Given the description of an element on the screen output the (x, y) to click on. 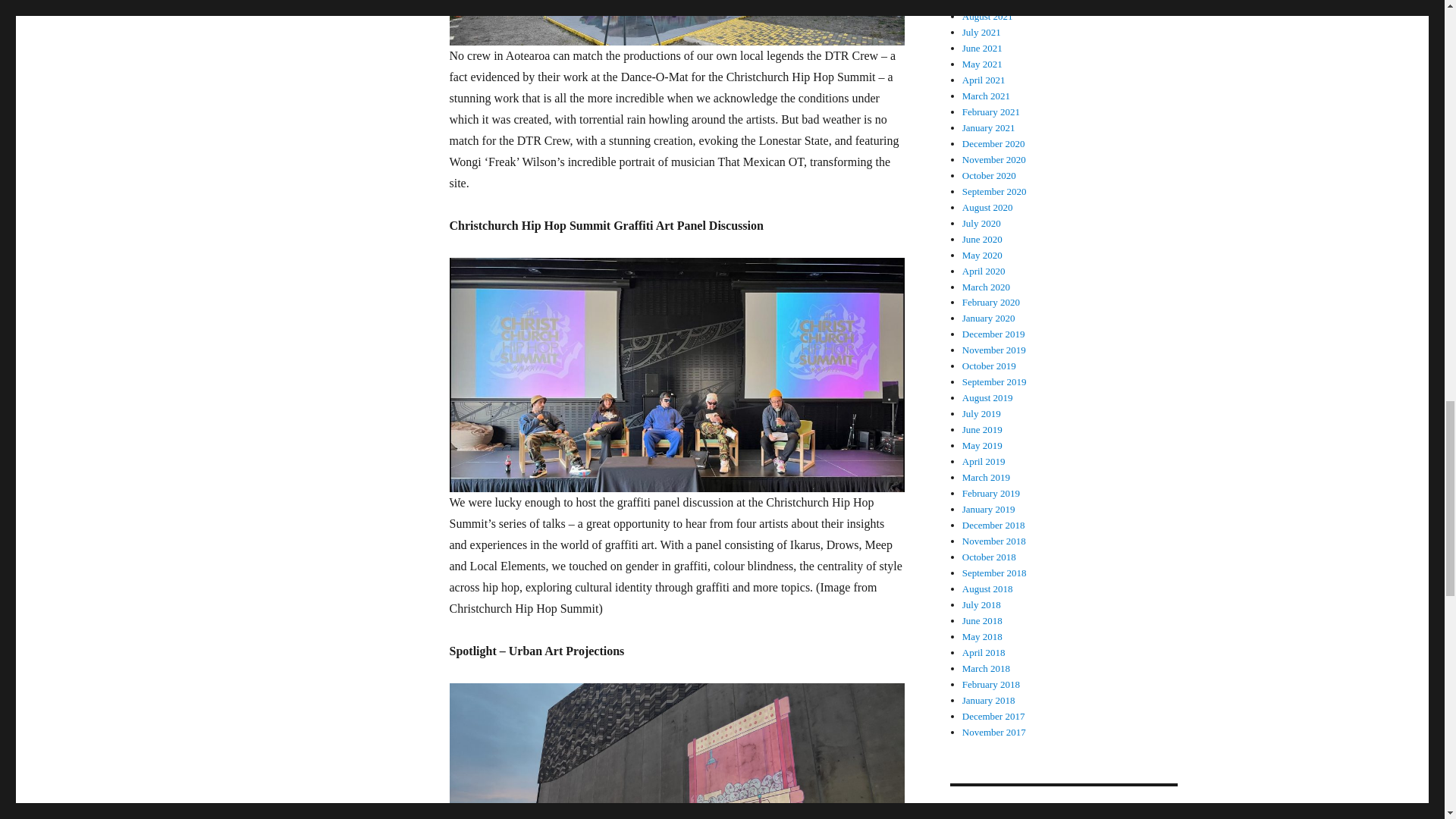
Instagram (1070, 812)
Facebook (1035, 812)
RSS (967, 812)
Follow by Email (1002, 812)
